Given the description of an element on the screen output the (x, y) to click on. 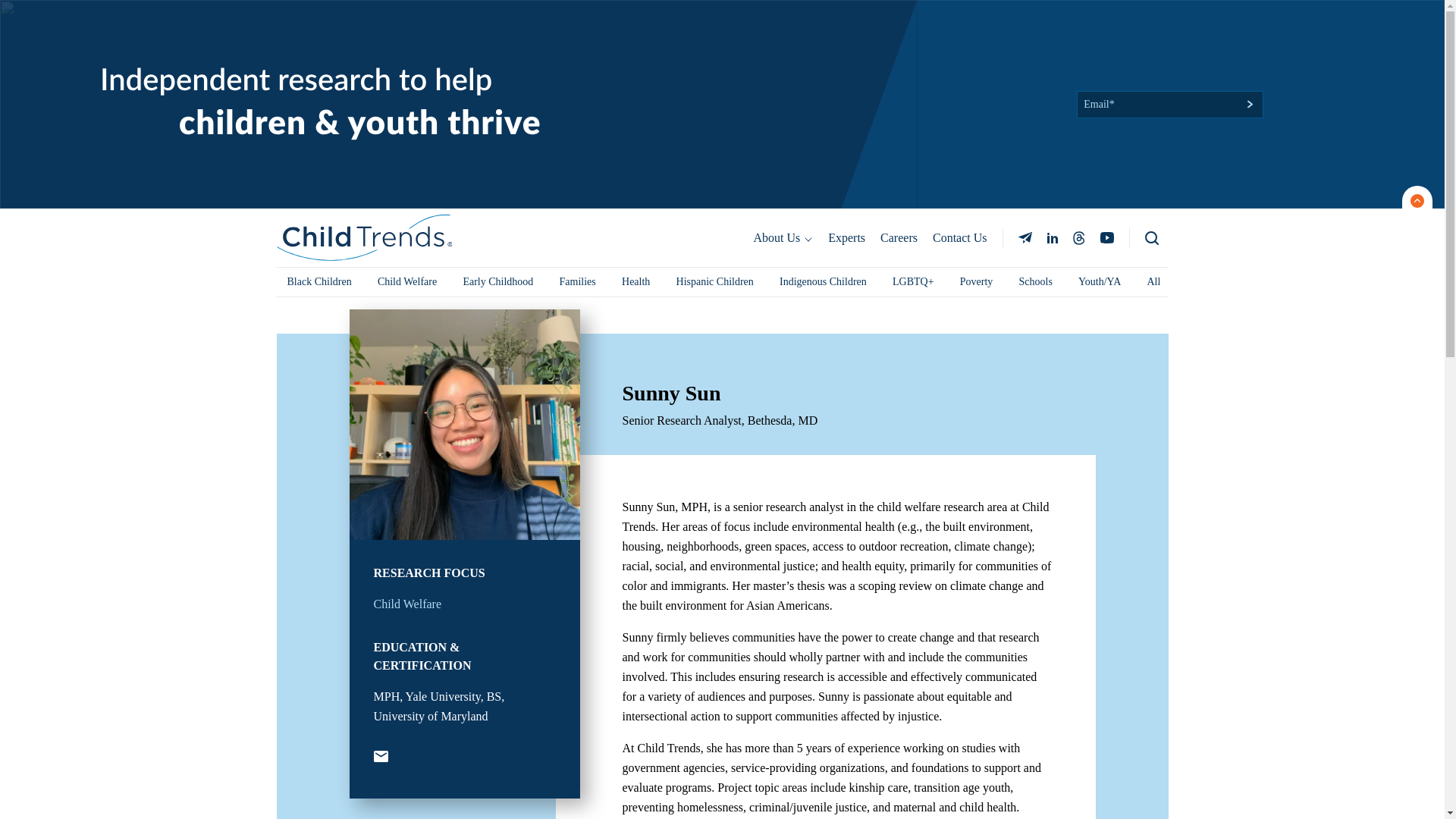
Poverty (976, 281)
ChildTrends (363, 237)
Schools (1035, 281)
Contact Us (959, 236)
Hispanic Children (714, 281)
Newsletter Signup (1024, 237)
YouTube (379, 757)
Careers (898, 236)
Black Children (318, 281)
LinkedIn (1051, 237)
